Given the description of an element on the screen output the (x, y) to click on. 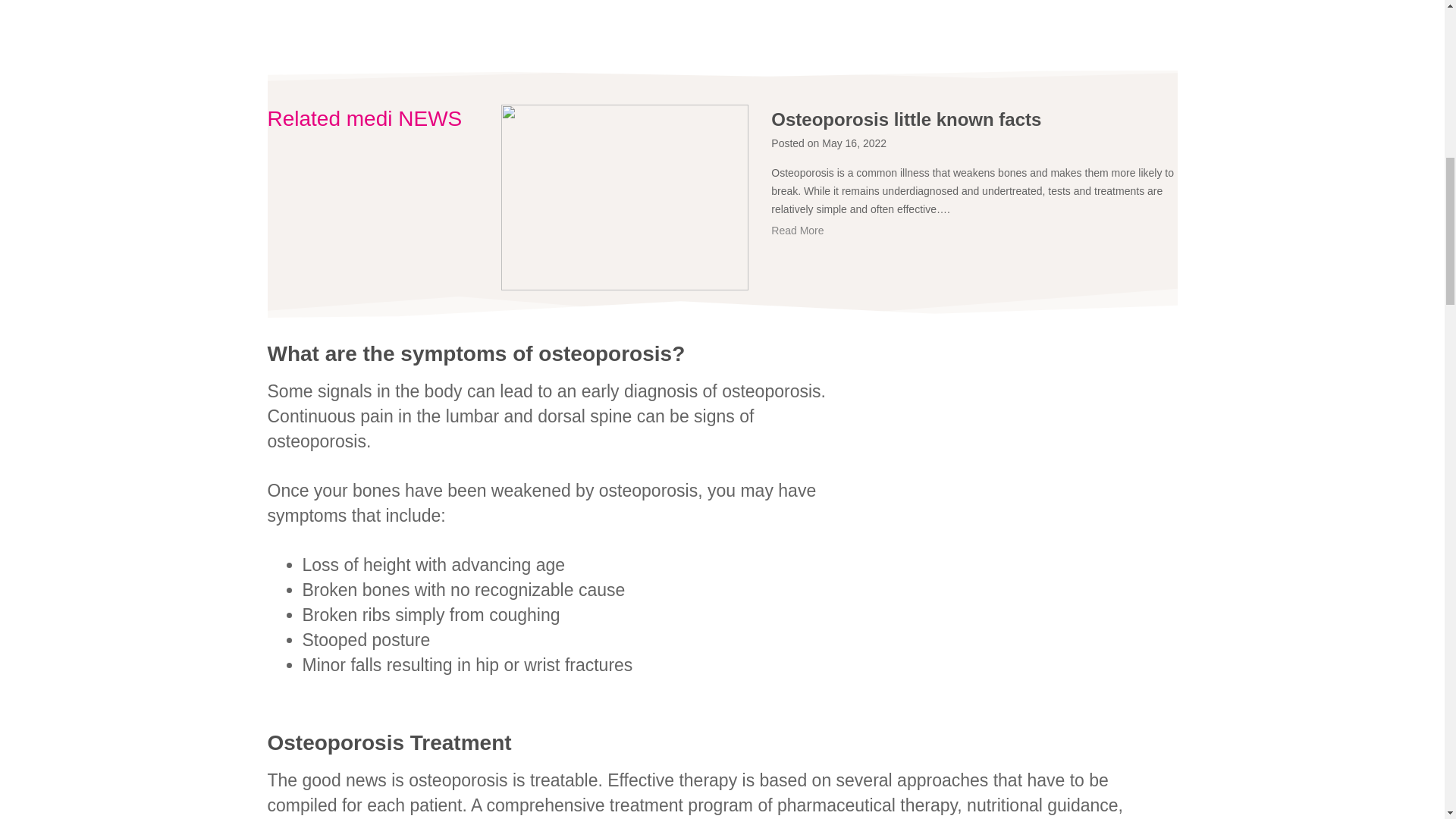
Osteoporosis little known facts (973, 119)
